Given the description of an element on the screen output the (x, y) to click on. 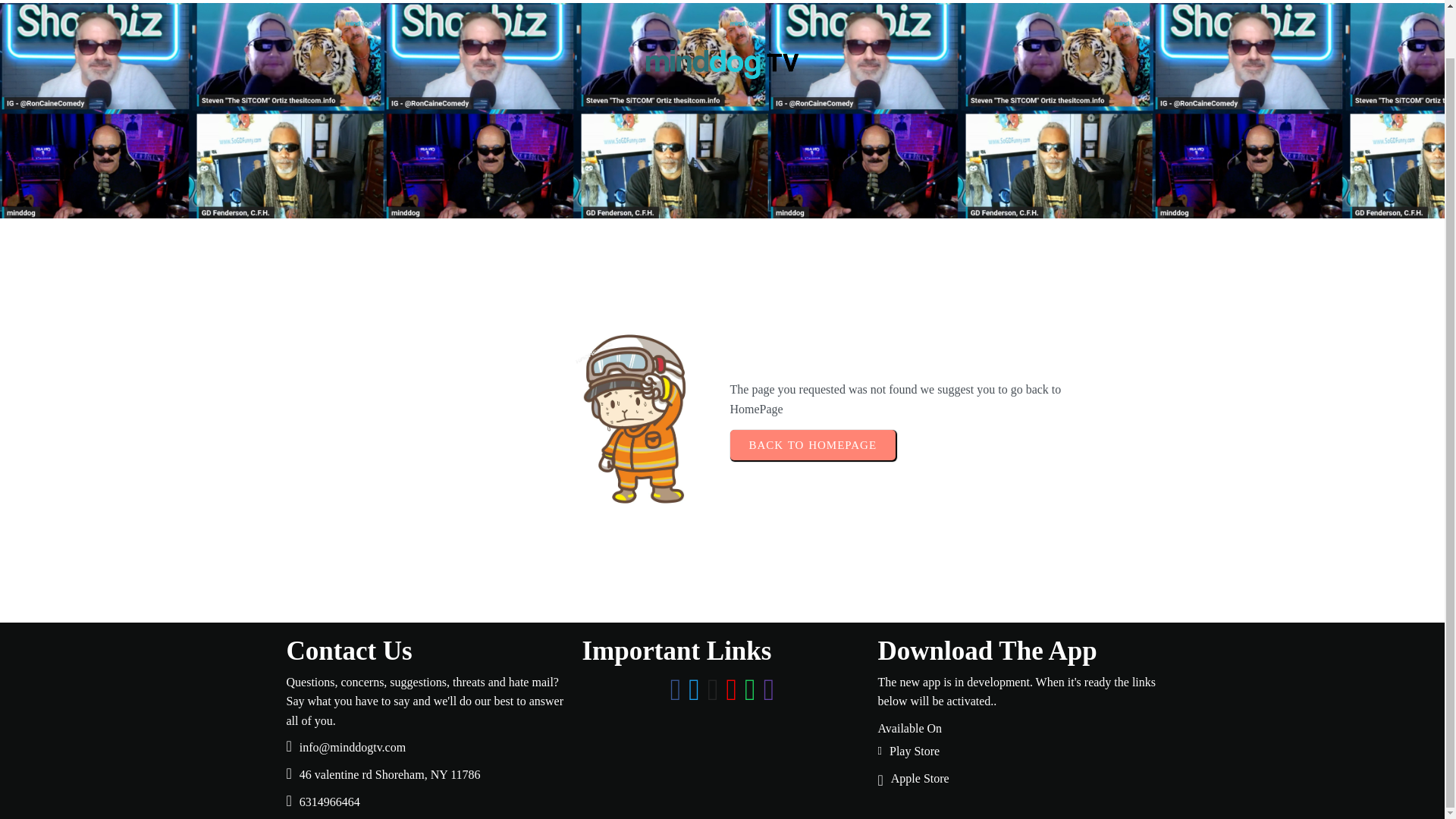
MERCH (1313, 0)
BACK TO HOMEPAGE (812, 444)
HOME (1051, 0)
ABOUT (1169, 0)
BLOG (1105, 0)
logo - for white background (721, 63)
